Given the description of an element on the screen output the (x, y) to click on. 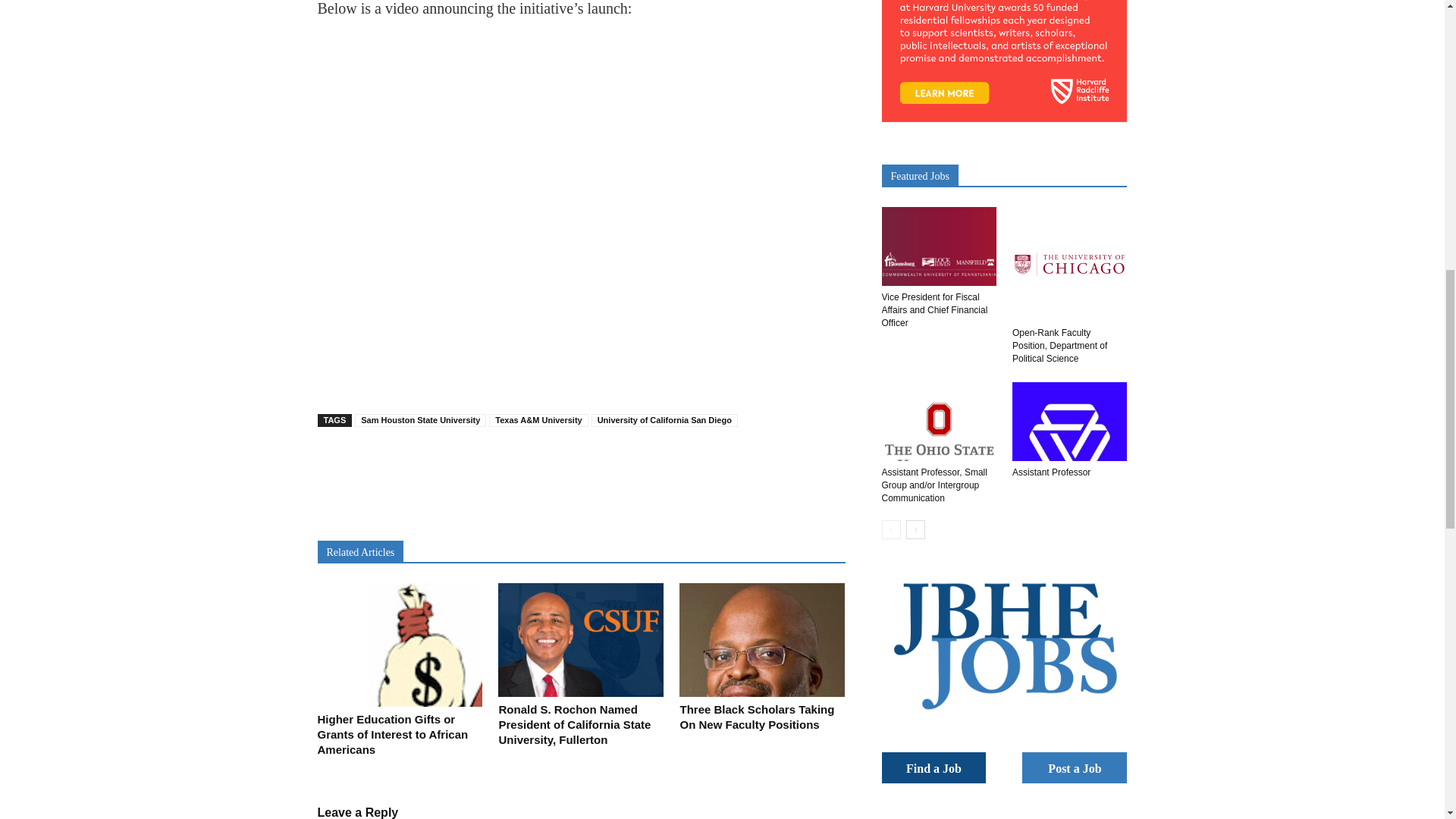
University of California San Diego (664, 420)
Sam Houston State University (420, 420)
